Given the description of an element on the screen output the (x, y) to click on. 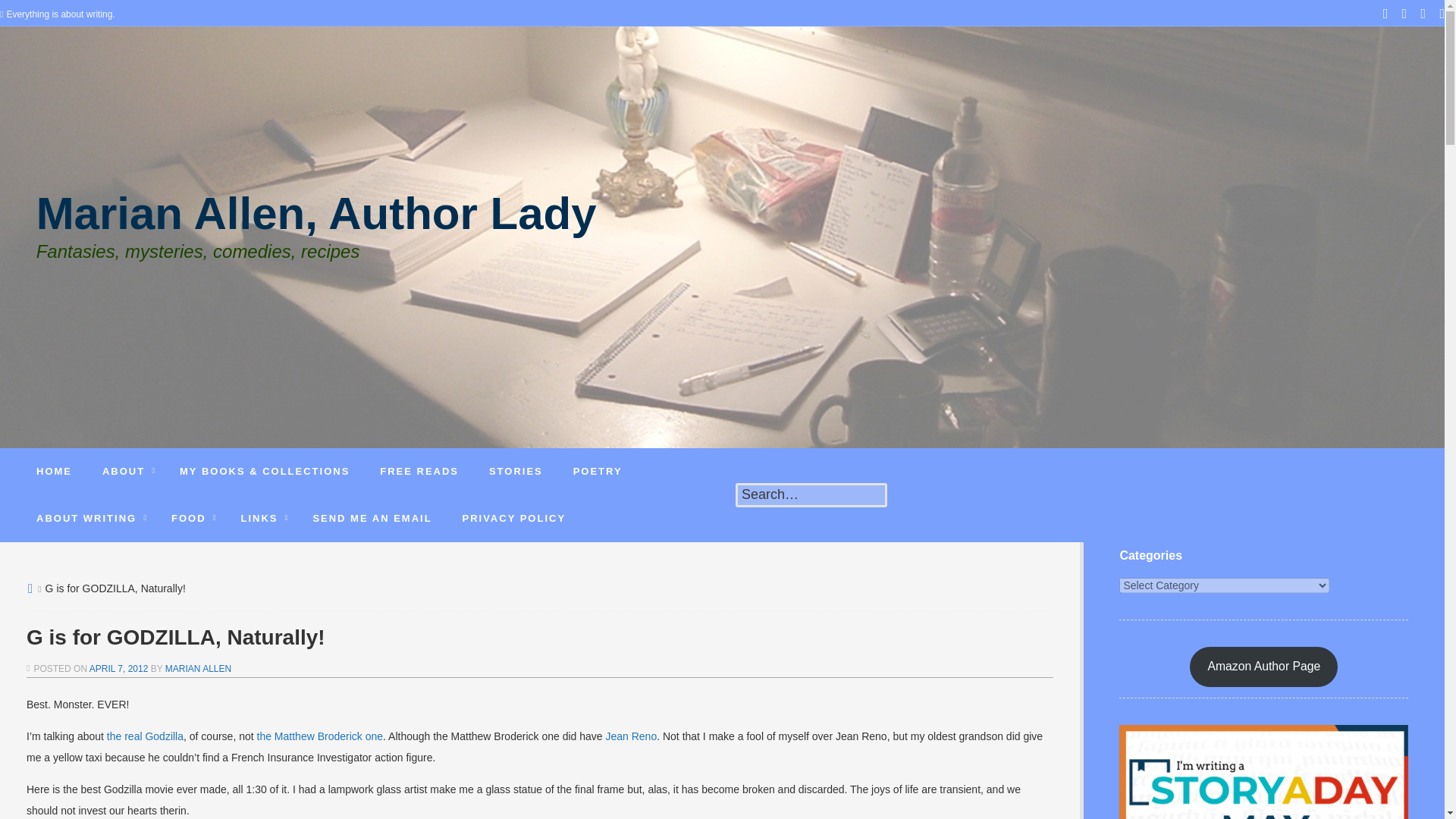
7:02 am (118, 668)
HOME (54, 471)
ABOUT (125, 471)
View all posts by Marian Allen (198, 668)
Marian Allen, Author Lady (316, 224)
G is for GODZILLA, Naturally! (539, 637)
